Given the description of an element on the screen output the (x, y) to click on. 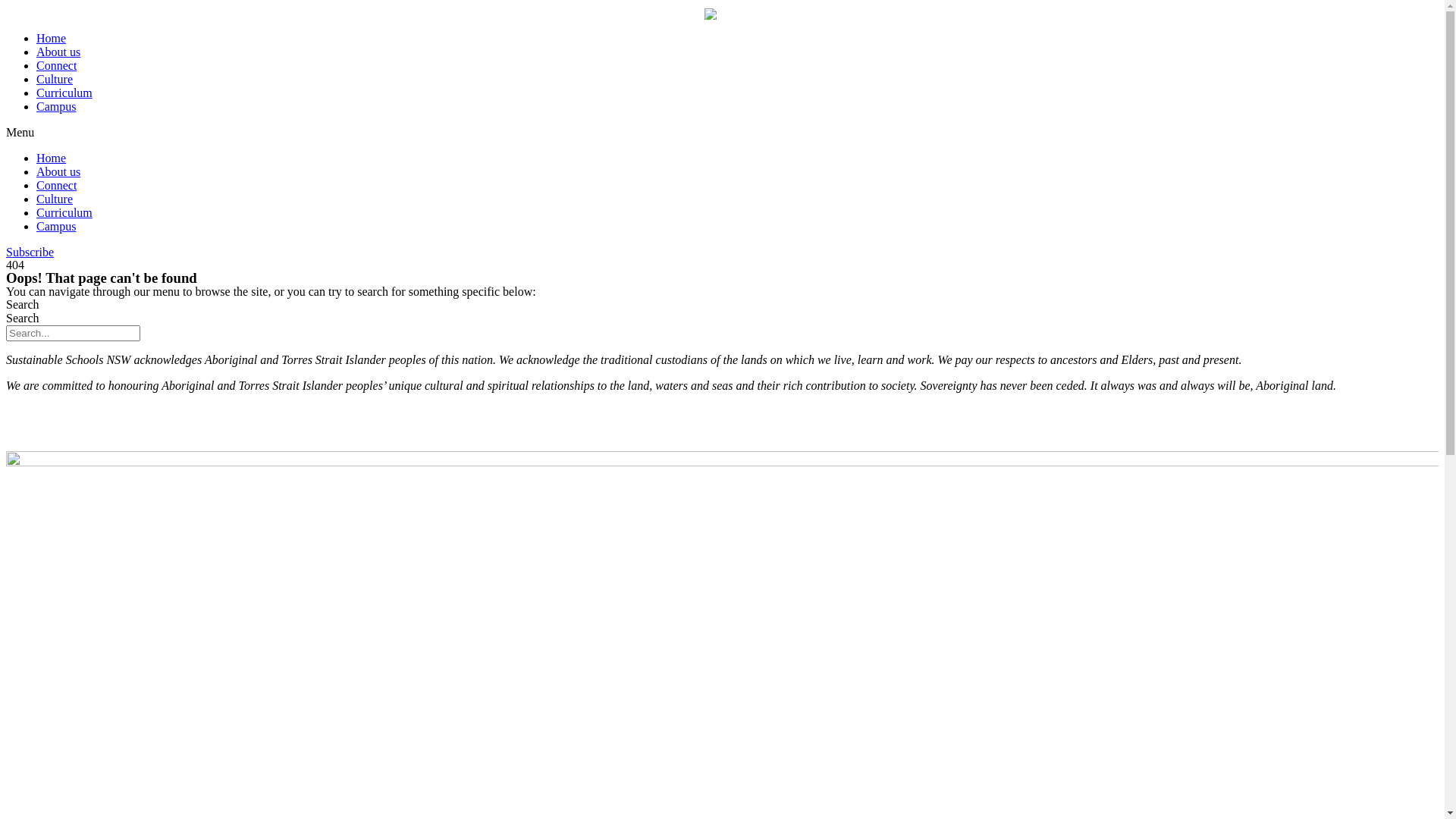
Curriculum Element type: text (64, 212)
Skip to content Element type: text (5, 5)
About us Element type: text (58, 171)
Connect Element type: text (56, 184)
About us Element type: text (58, 51)
Connect Element type: text (56, 65)
Culture Element type: text (54, 198)
Campus Element type: text (55, 106)
Home Element type: text (50, 157)
Campus Element type: text (55, 225)
Culture Element type: text (54, 78)
Subscribe Element type: text (29, 251)
Home Element type: text (50, 37)
Curriculum Element type: text (64, 92)
